Given the description of an element on the screen output the (x, y) to click on. 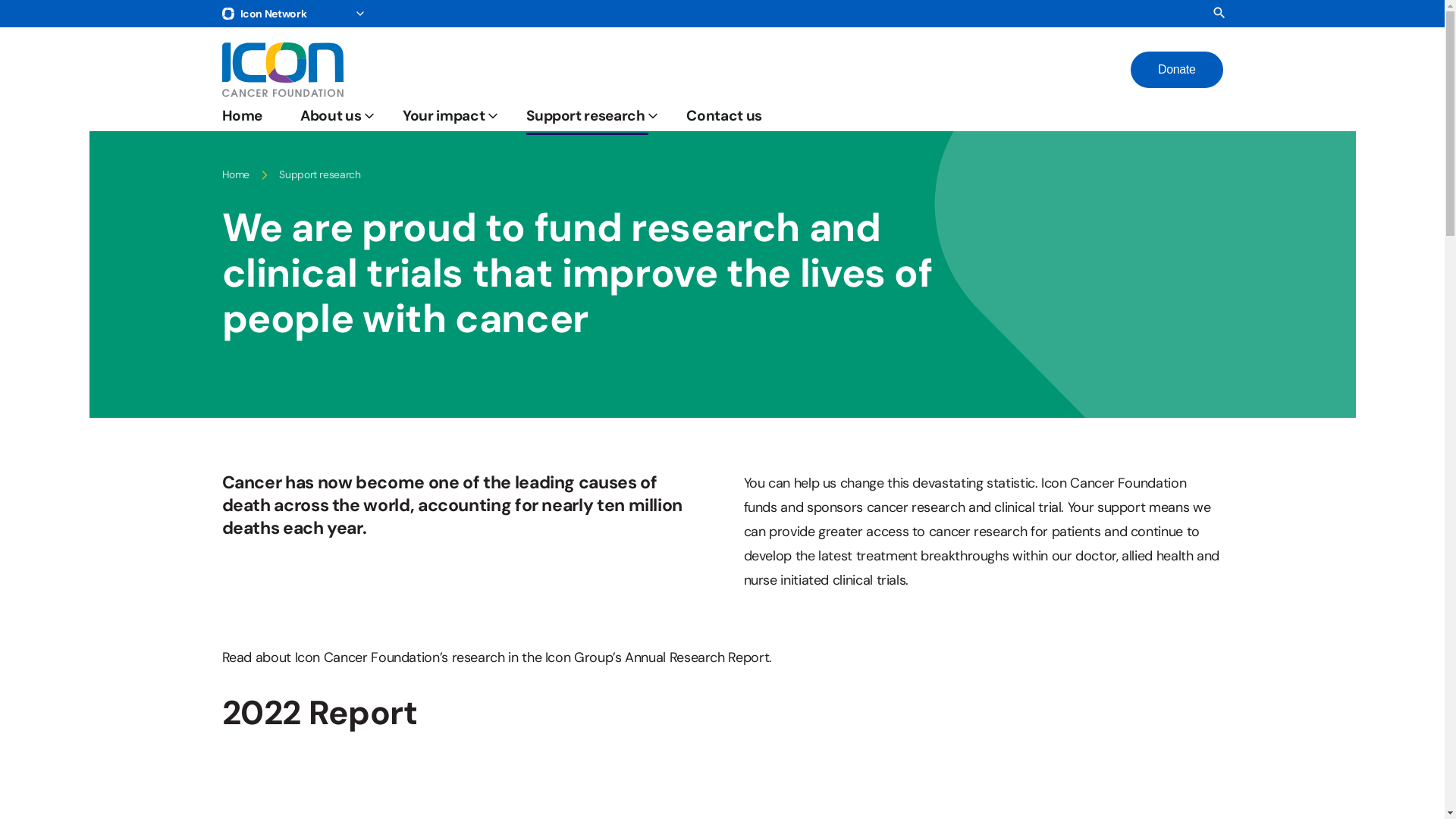
Home Element type: text (242, 115)
Donate Element type: text (1176, 69)
Support research Element type: text (587, 115)
Contact us Element type: text (723, 115)
Your impact Element type: text (445, 115)
Home Element type: text (235, 175)
About us Element type: text (332, 115)
